Given the description of an element on the screen output the (x, y) to click on. 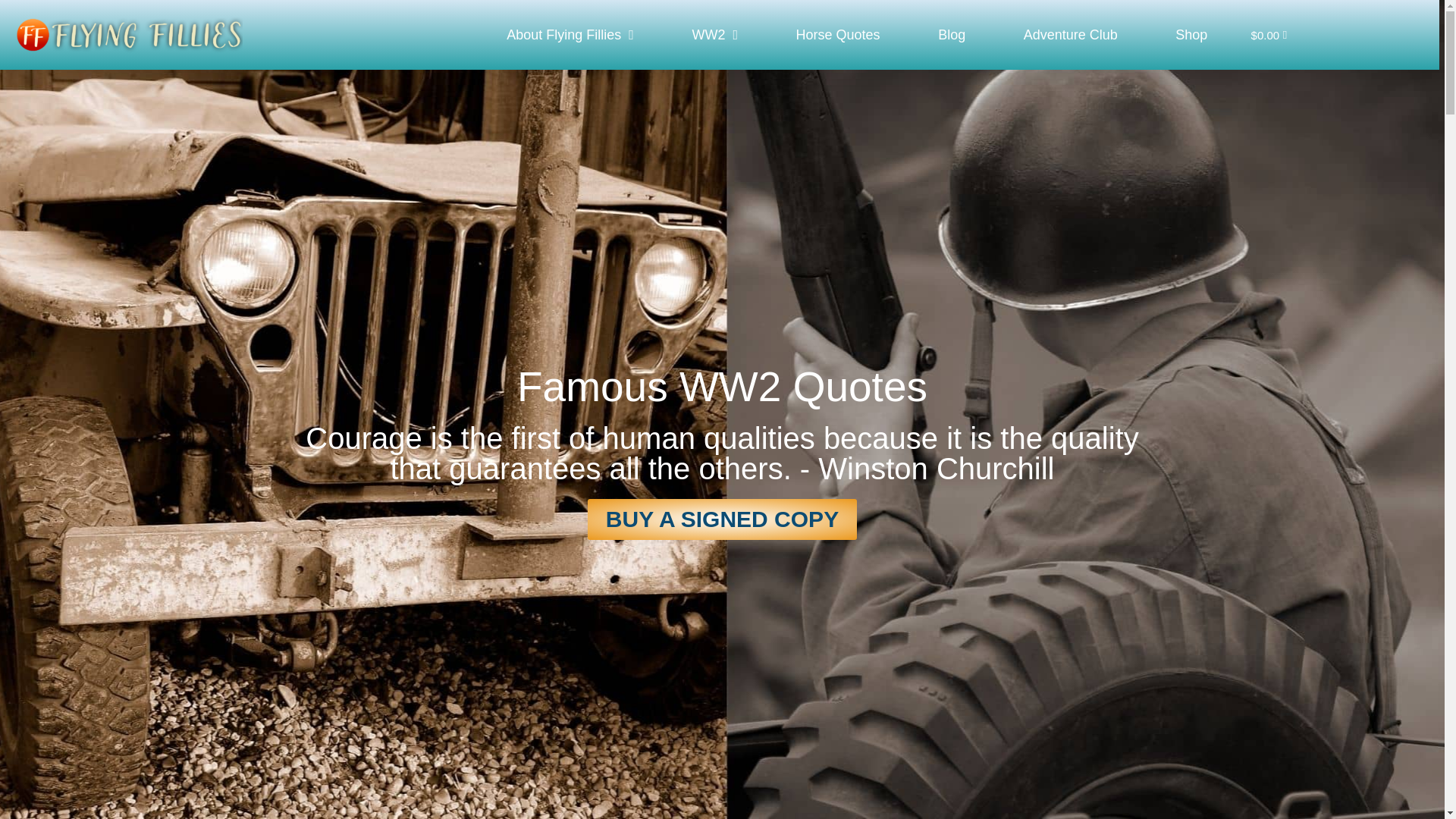
About Flying Fillies (570, 34)
Shop (1191, 34)
Blog (951, 34)
Adventure Club (1069, 34)
WW2 (714, 34)
Horse Quotes (837, 34)
